Given the description of an element on the screen output the (x, y) to click on. 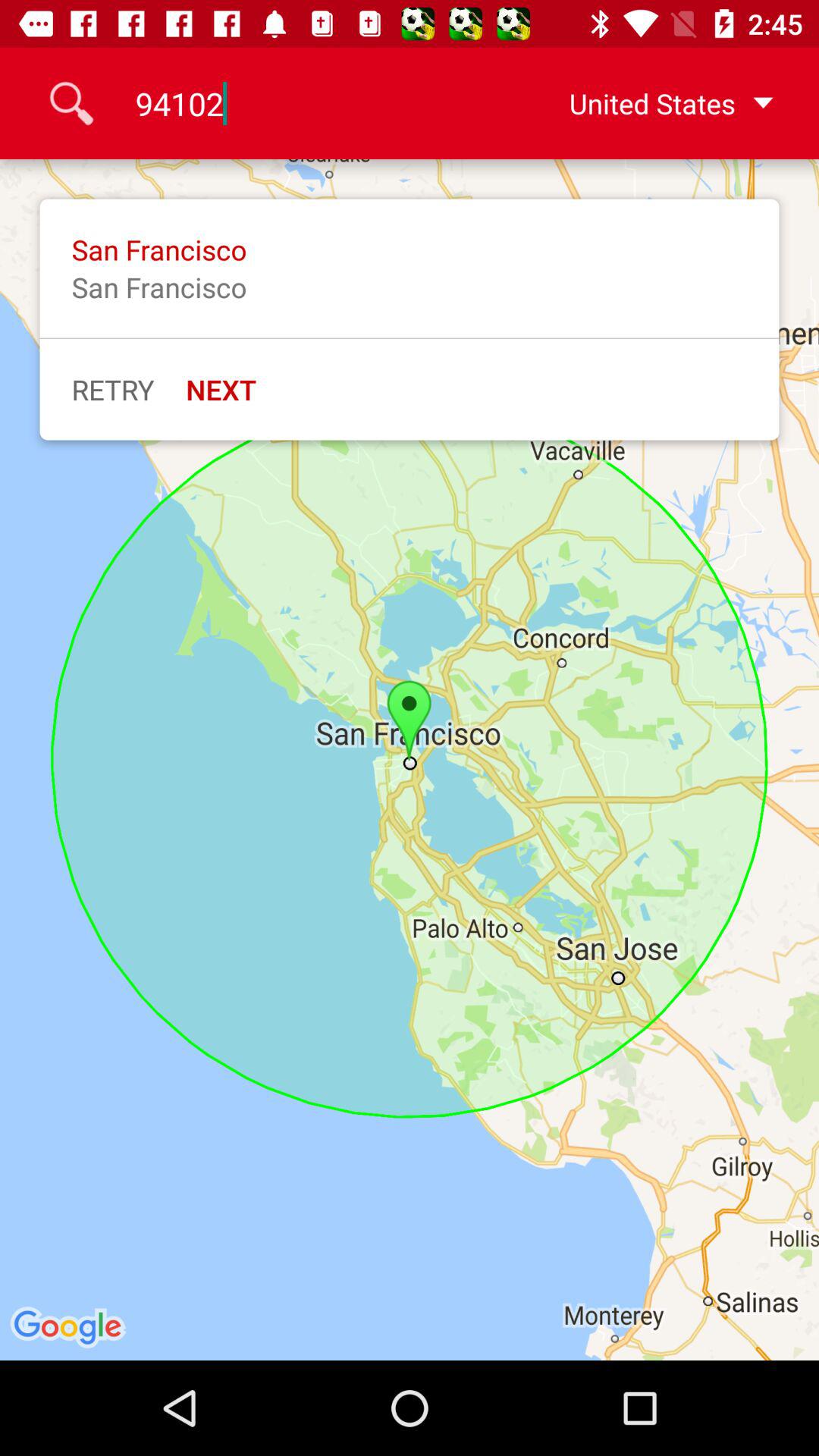
open the 94102 (309, 103)
